Given the description of an element on the screen output the (x, y) to click on. 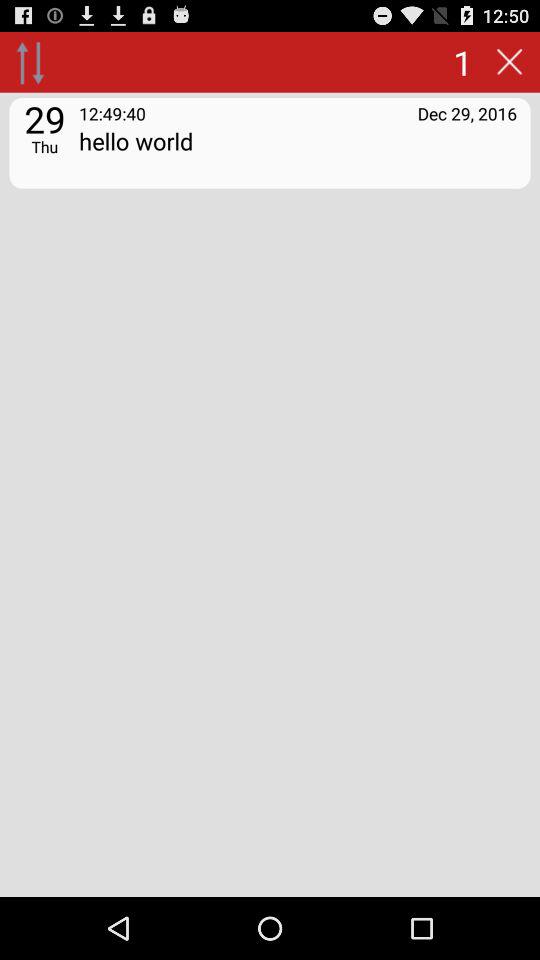
go up/down (30, 61)
